Given the description of an element on the screen output the (x, y) to click on. 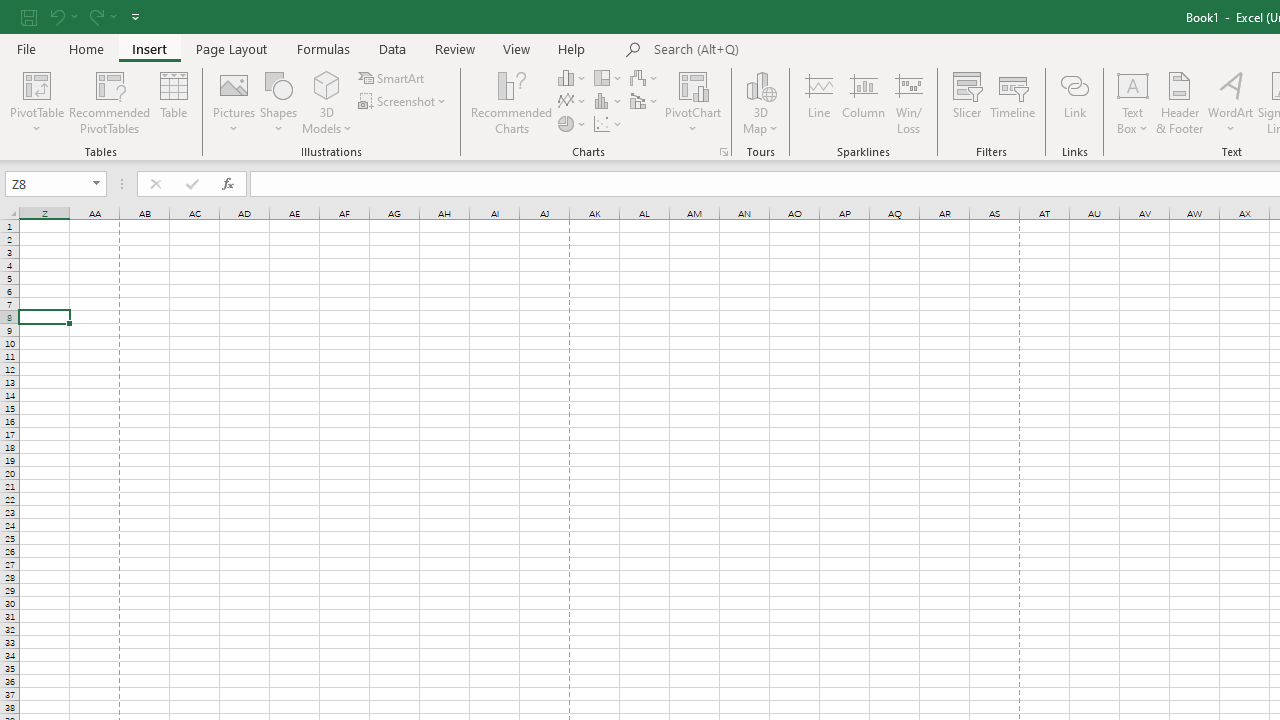
Insert Combo Chart (645, 101)
3D Models (326, 102)
Table (173, 102)
Insert Hierarchy Chart (609, 78)
PivotTable (36, 84)
WordArt (1230, 102)
